Given the description of an element on the screen output the (x, y) to click on. 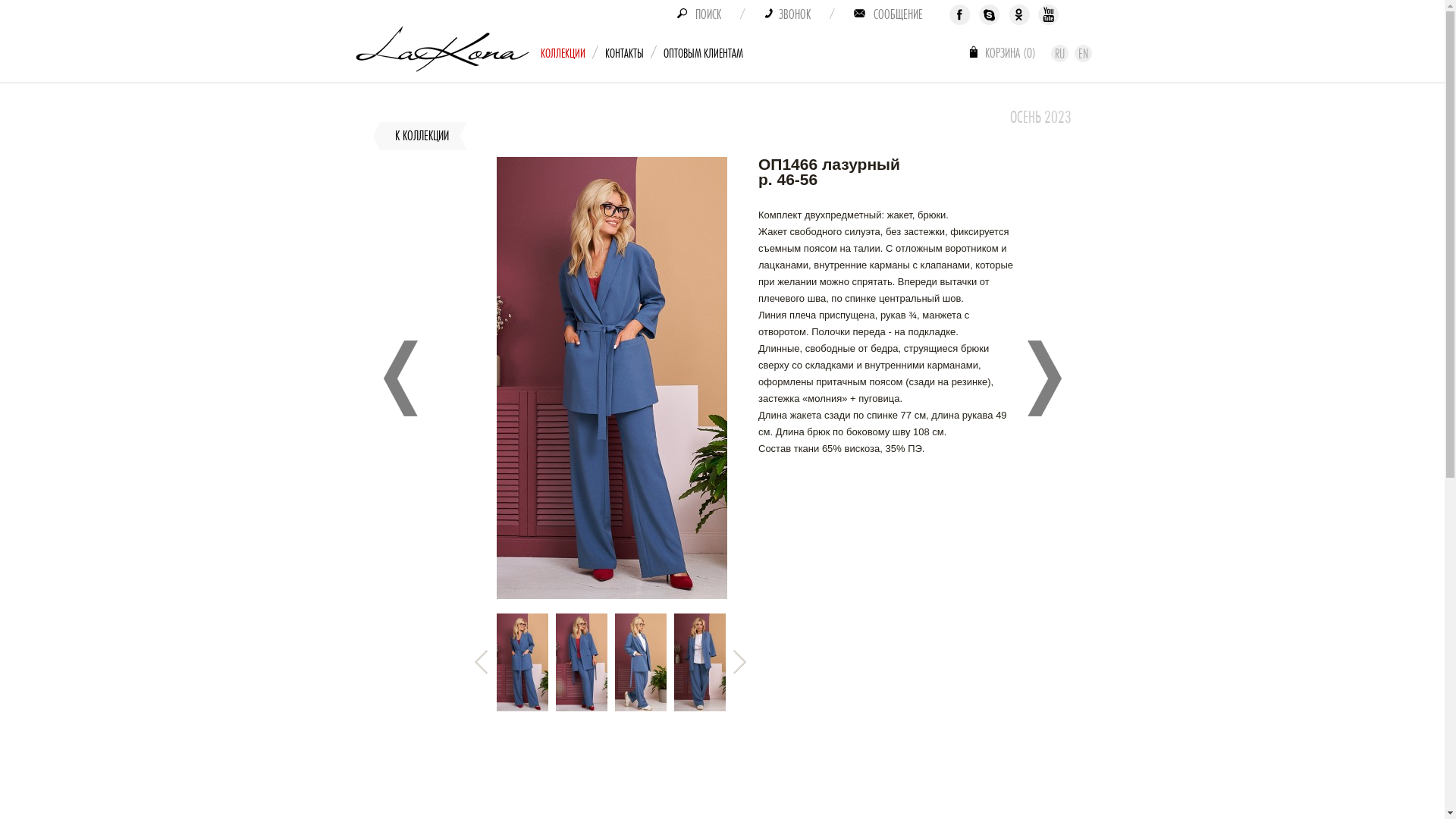
RU Element type: text (1059, 53)
Click to zoom in. Element type: hover (611, 595)
EN Element type: text (1083, 53)
